Given the description of an element on the screen output the (x, y) to click on. 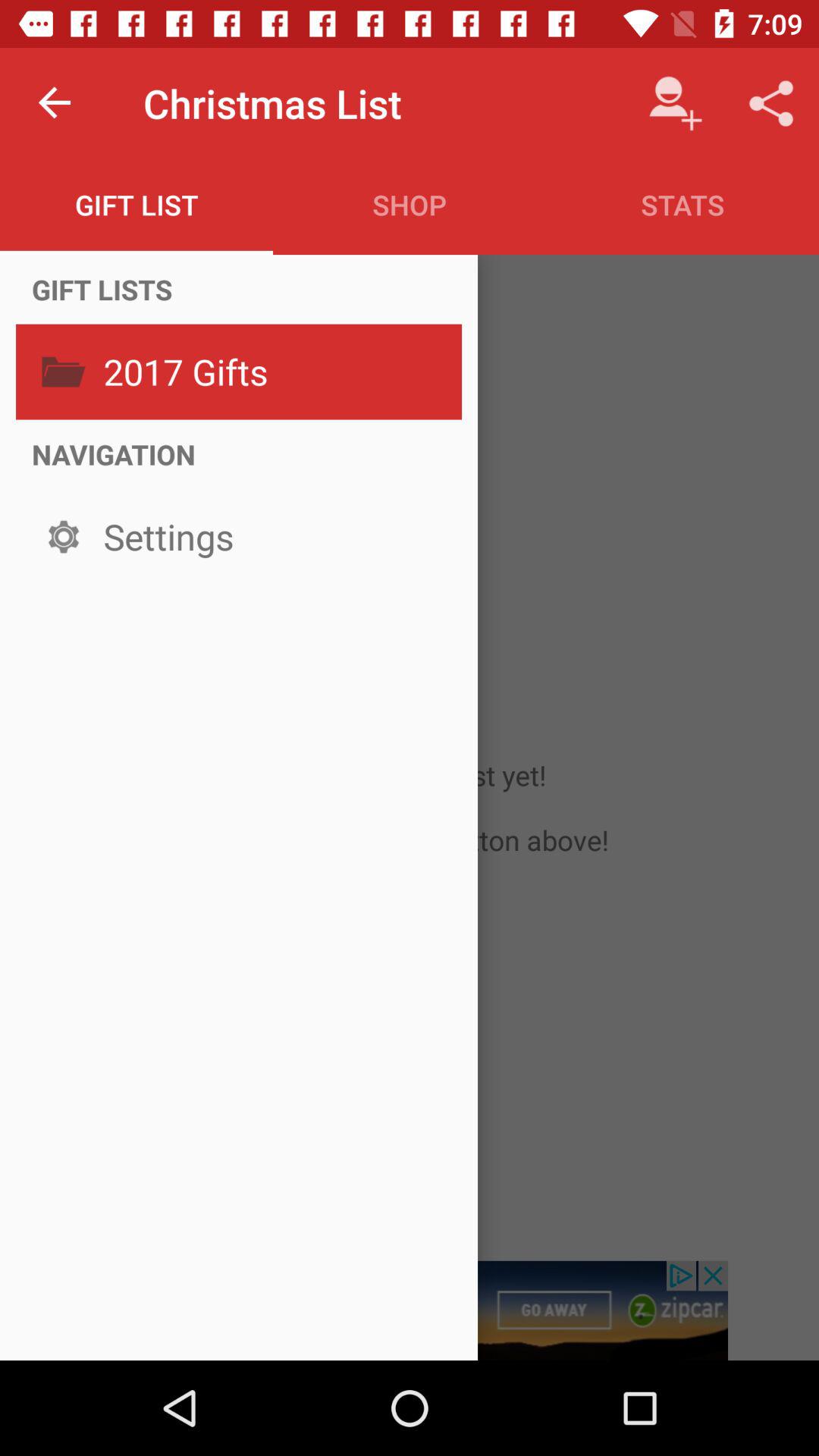
scroll until the 2017 gifts icon (278, 371)
